Given the description of an element on the screen output the (x, y) to click on. 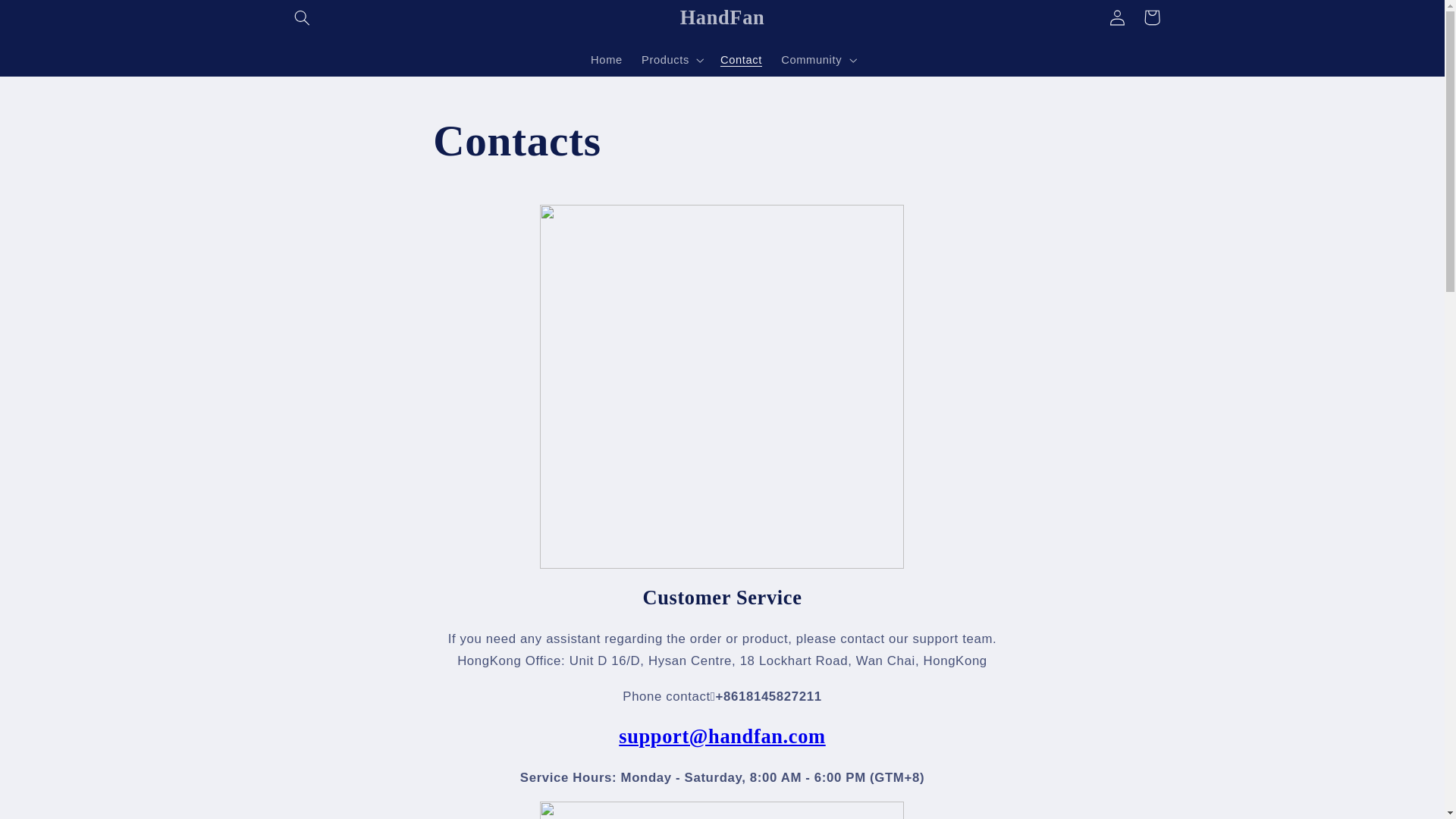
Cart (1151, 17)
Contact (740, 59)
HandFan (722, 17)
Log in (1116, 17)
Home (605, 59)
Skip to content (48, 18)
